Given the description of an element on the screen output the (x, y) to click on. 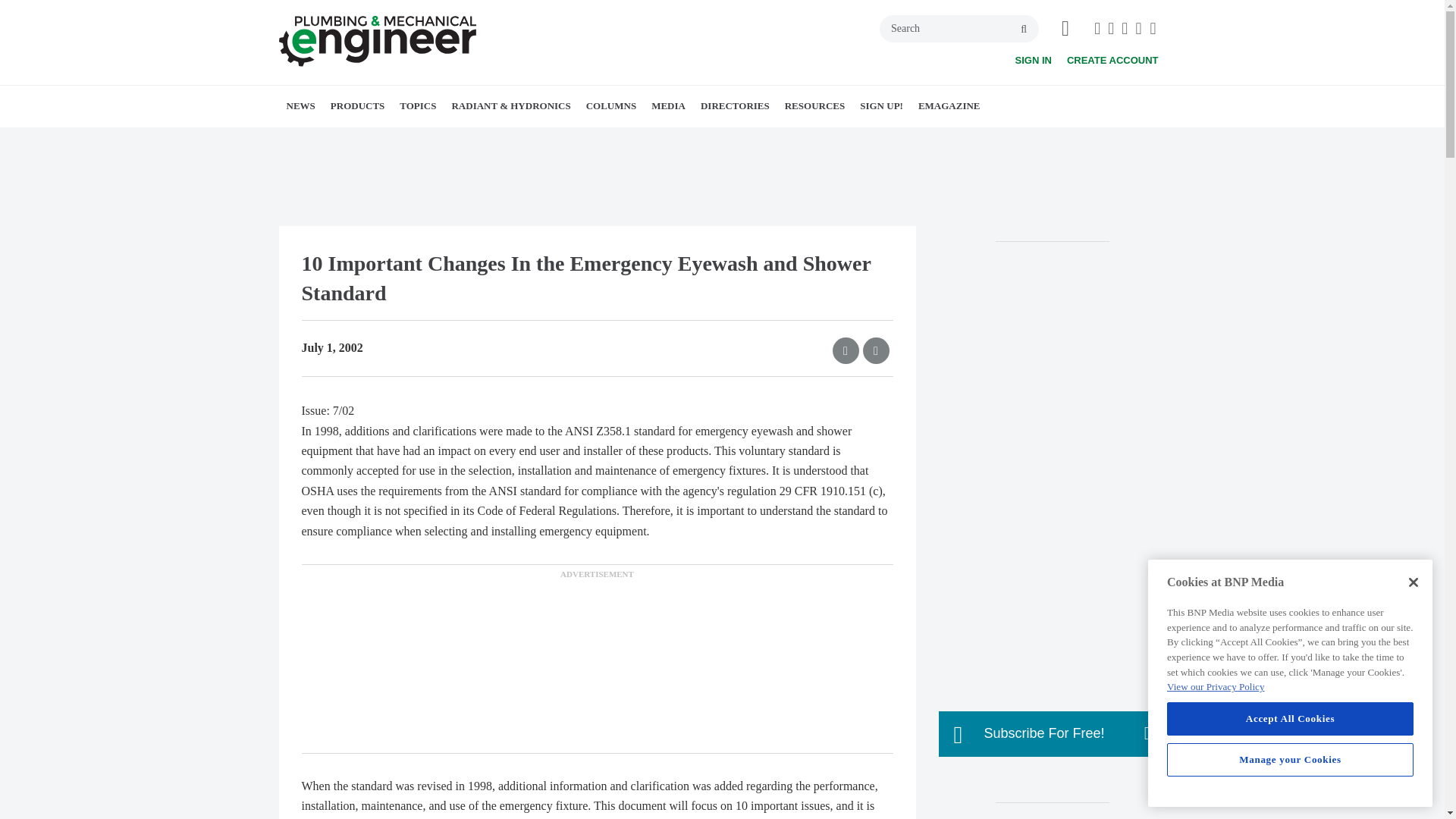
PRODUCTS (358, 105)
COLUMNS (610, 105)
GREEN PLUMBING (513, 139)
DAN HOLOHAN (699, 139)
SIGN IN (1032, 60)
JOHN SIEGENTHALER (707, 139)
PLUMBING GROUP PIPELINE (373, 139)
TECHNOLOGY (526, 139)
CHRISTOPH LOHR (704, 139)
Search (959, 28)
